Given the description of an element on the screen output the (x, y) to click on. 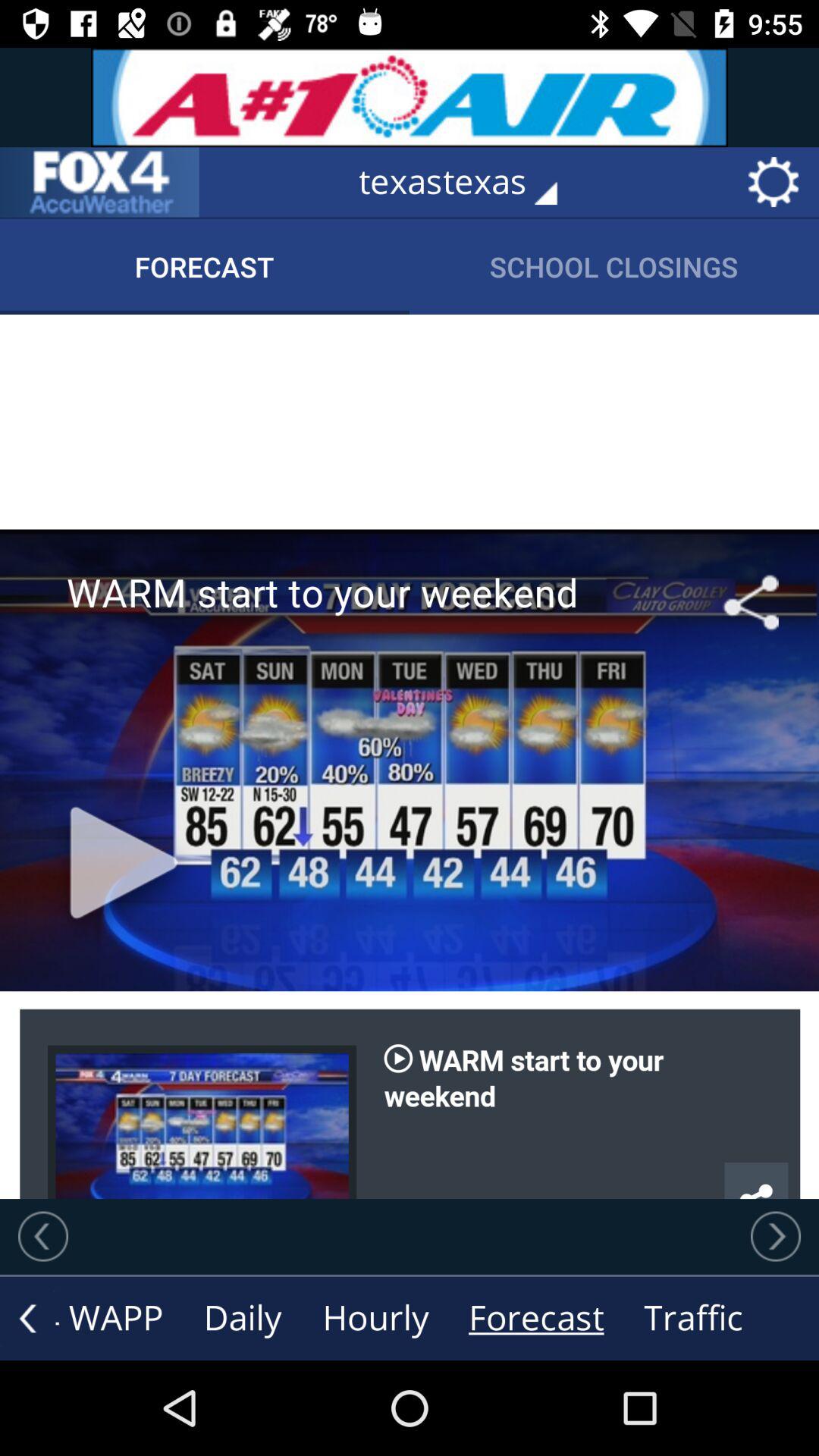
advertisement (409, 97)
